Given the description of an element on the screen output the (x, y) to click on. 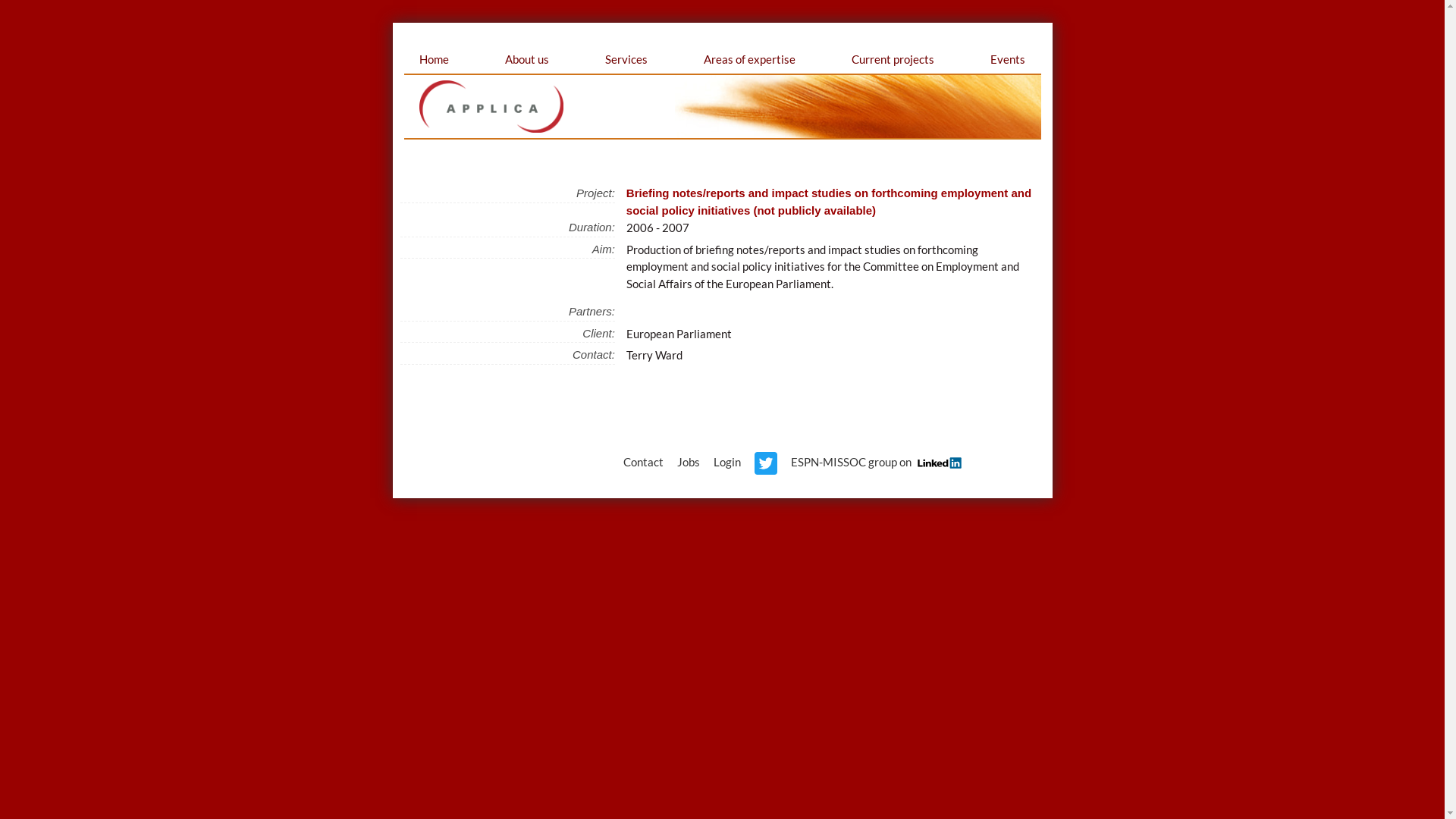
Home Element type: text (433, 59)
ESPN-MISSOC group on Element type: text (873, 461)
Login Element type: text (726, 461)
Services Element type: text (626, 59)
Jobs Element type: text (688, 461)
Events Element type: text (1007, 59)
Current projects Element type: text (892, 59)
About us Element type: text (526, 59)
Skip to content Element type: text (403, 44)
Contact Element type: text (643, 461)
Areas of expertise Element type: text (749, 59)
